Given the description of an element on the screen output the (x, y) to click on. 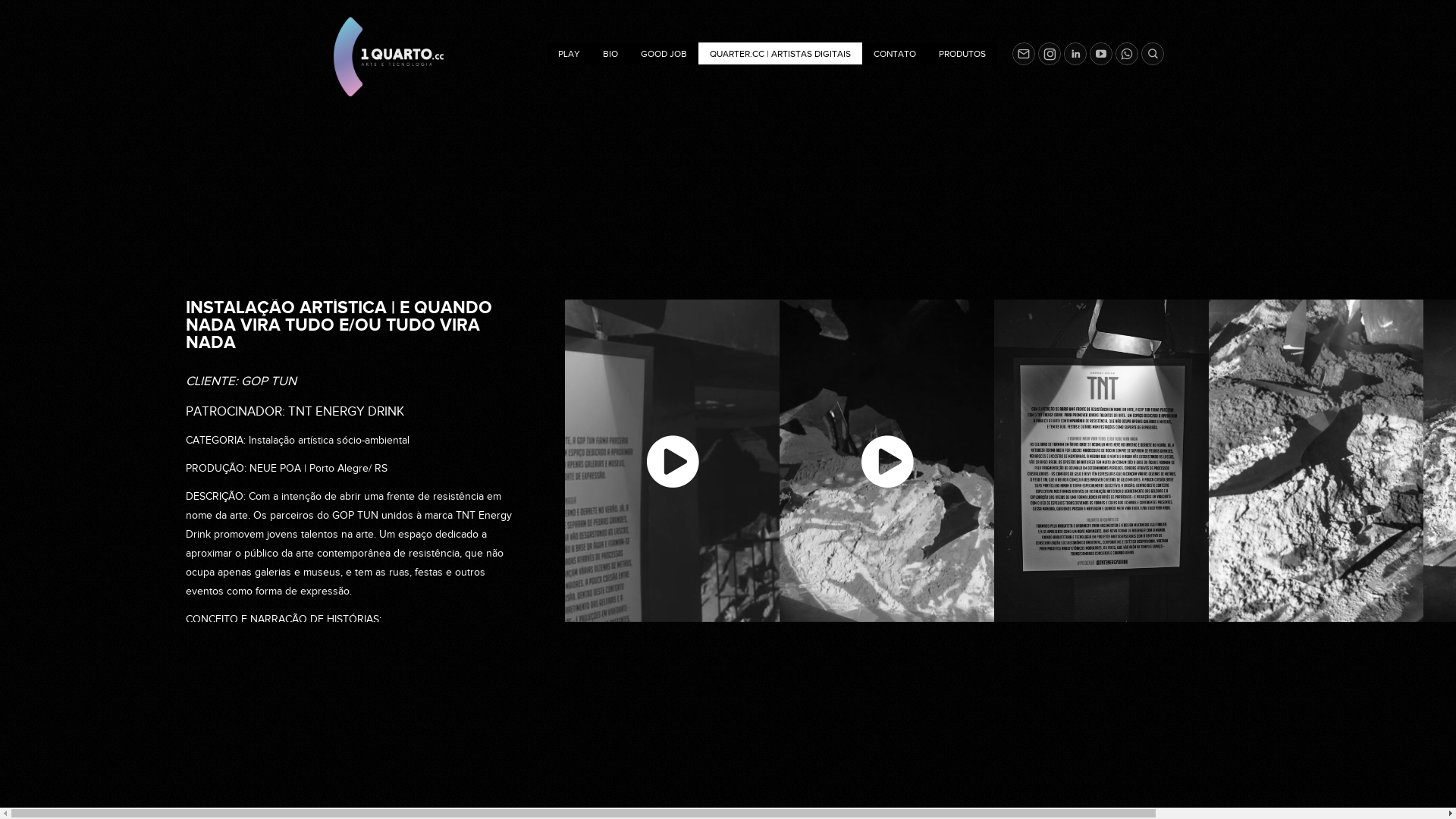
PLAY Element type: text (568, 53)
QUARTER.CC | ARTISTAS DIGITAIS Element type: text (780, 53)
PRODUTOS Element type: text (962, 53)
BIO Element type: text (610, 53)
CONTATO Element type: text (894, 53)
GOOD JOB Element type: text (663, 53)
